Given the description of an element on the screen output the (x, y) to click on. 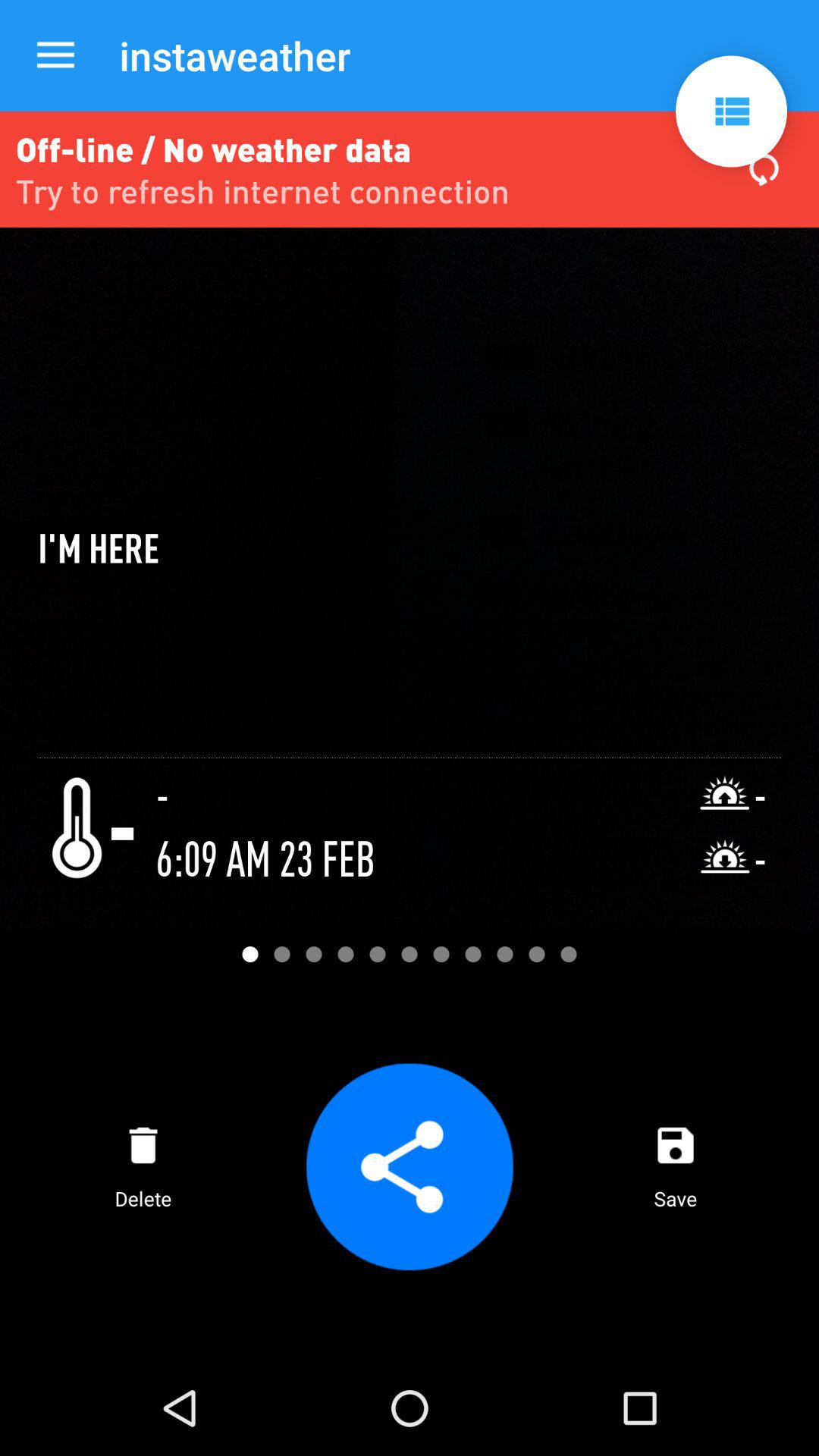
select the save (675, 1166)
